Given the description of an element on the screen output the (x, y) to click on. 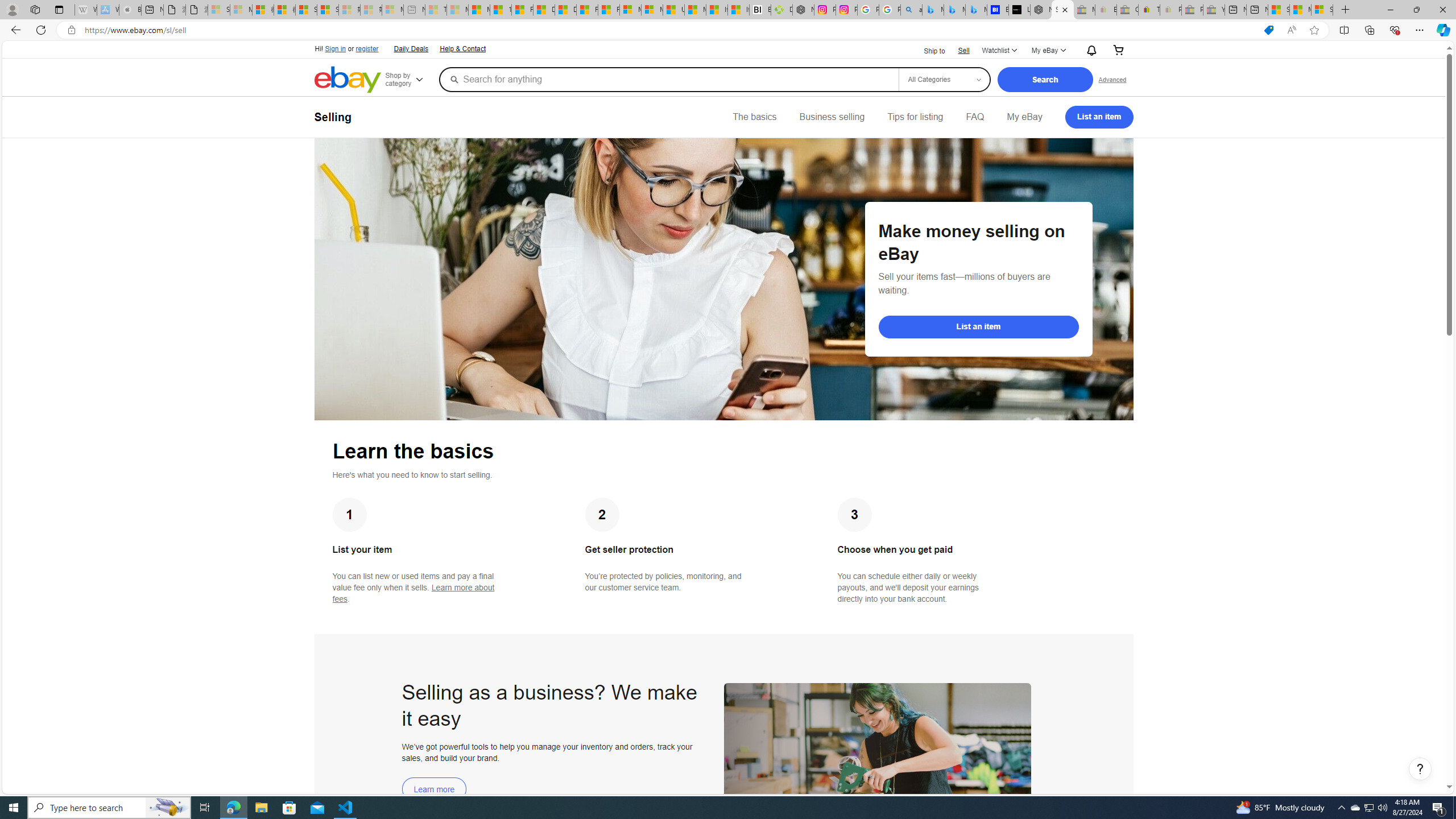
Press Room - eBay Inc. - Sleeping (1192, 9)
List an item (1099, 116)
Help, opens dialogs (1420, 768)
Learn more about fees - opens in new window or tab. (413, 593)
Help & Contact (461, 48)
US Heat Deaths Soared To Record High Last Year (673, 9)
Advanced Search (1112, 78)
Shanghai, China hourly forecast | Microsoft Weather (1278, 9)
Threats and offensive language policy | eBay (1149, 9)
